Given the description of an element on the screen output the (x, y) to click on. 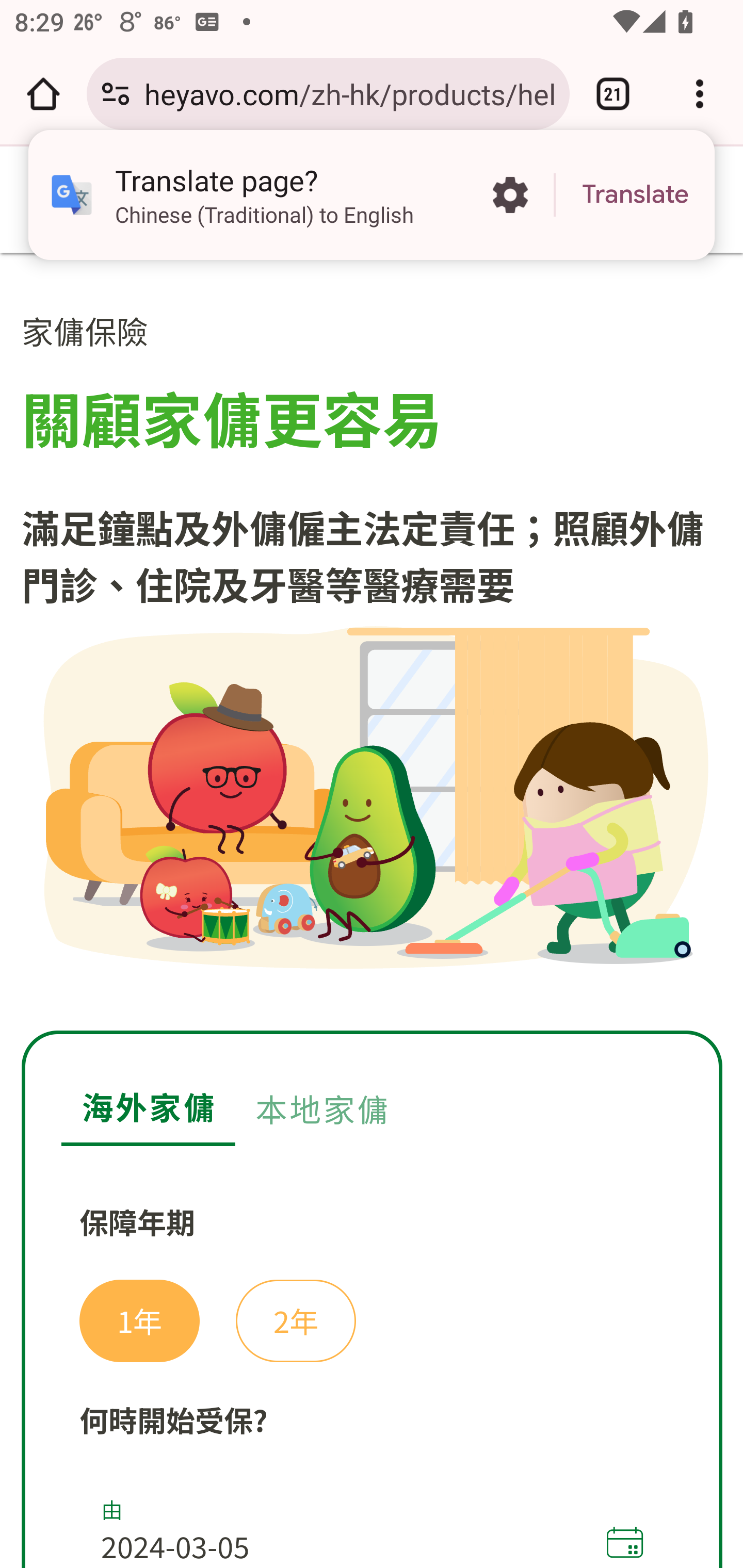
Open the home page (43, 93)
Connection is secure (115, 93)
Switch or close tabs (612, 93)
Customize and control Google Chrome (699, 93)
Translate (634, 195)
More options in the Translate page? (509, 195)
海外家傭 (148, 1090)
本地家傭 (321, 1089)
2024-03-05 (350, 1542)
